Given the description of an element on the screen output the (x, y) to click on. 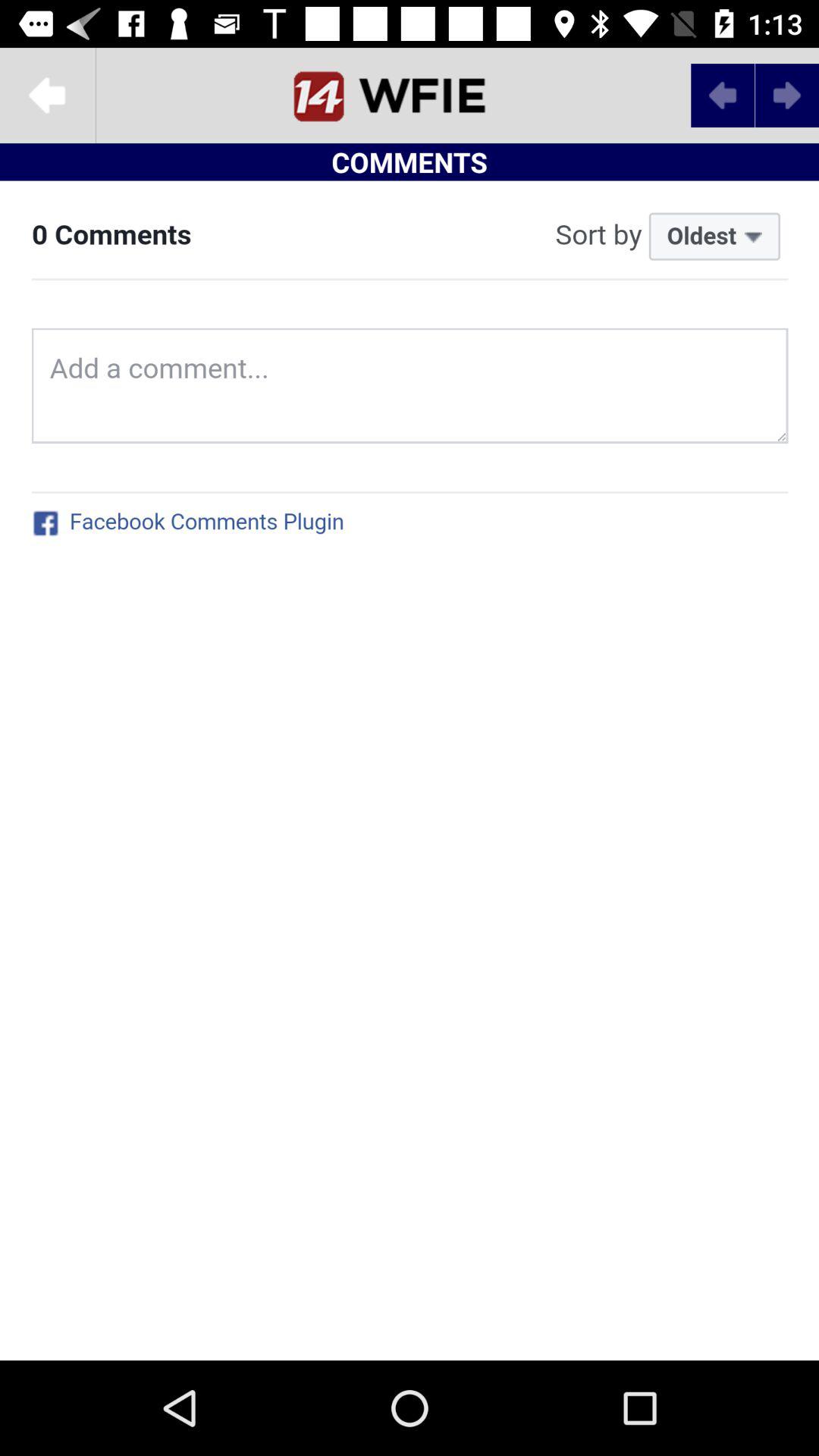
previous (722, 95)
